Given the description of an element on the screen output the (x, y) to click on. 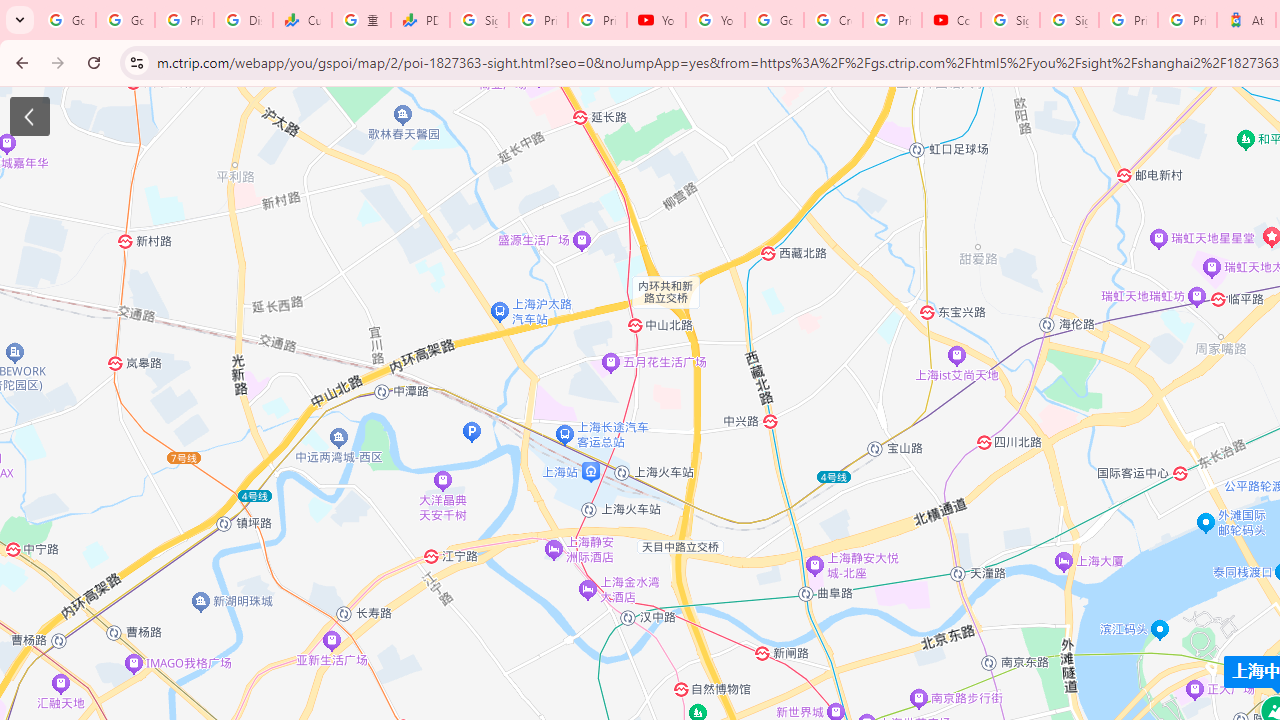
Sign in - Google Accounts (1069, 20)
Sign in - Google Accounts (1010, 20)
YouTube (715, 20)
Content Creator Programs & Opportunities - YouTube Creators (950, 20)
Create your Google Account (832, 20)
Privacy Checkup (597, 20)
